Given the description of an element on the screen output the (x, y) to click on. 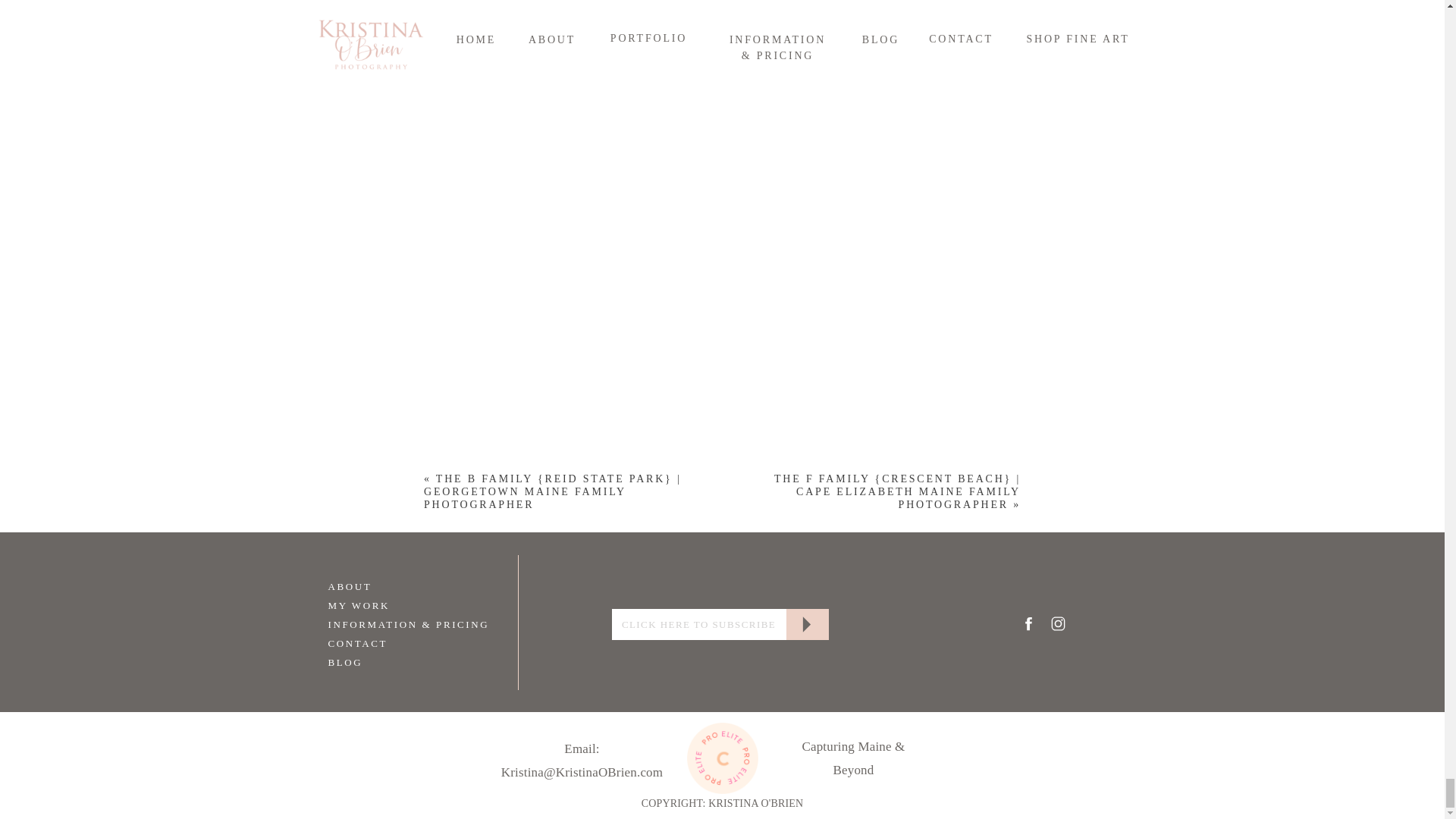
COPYRIGHT: KRISTINA O'BRIEN (722, 803)
ABOUT (384, 585)
MY WORK (384, 604)
CONTACT (384, 642)
BLOG (384, 661)
